Given the description of an element on the screen output the (x, y) to click on. 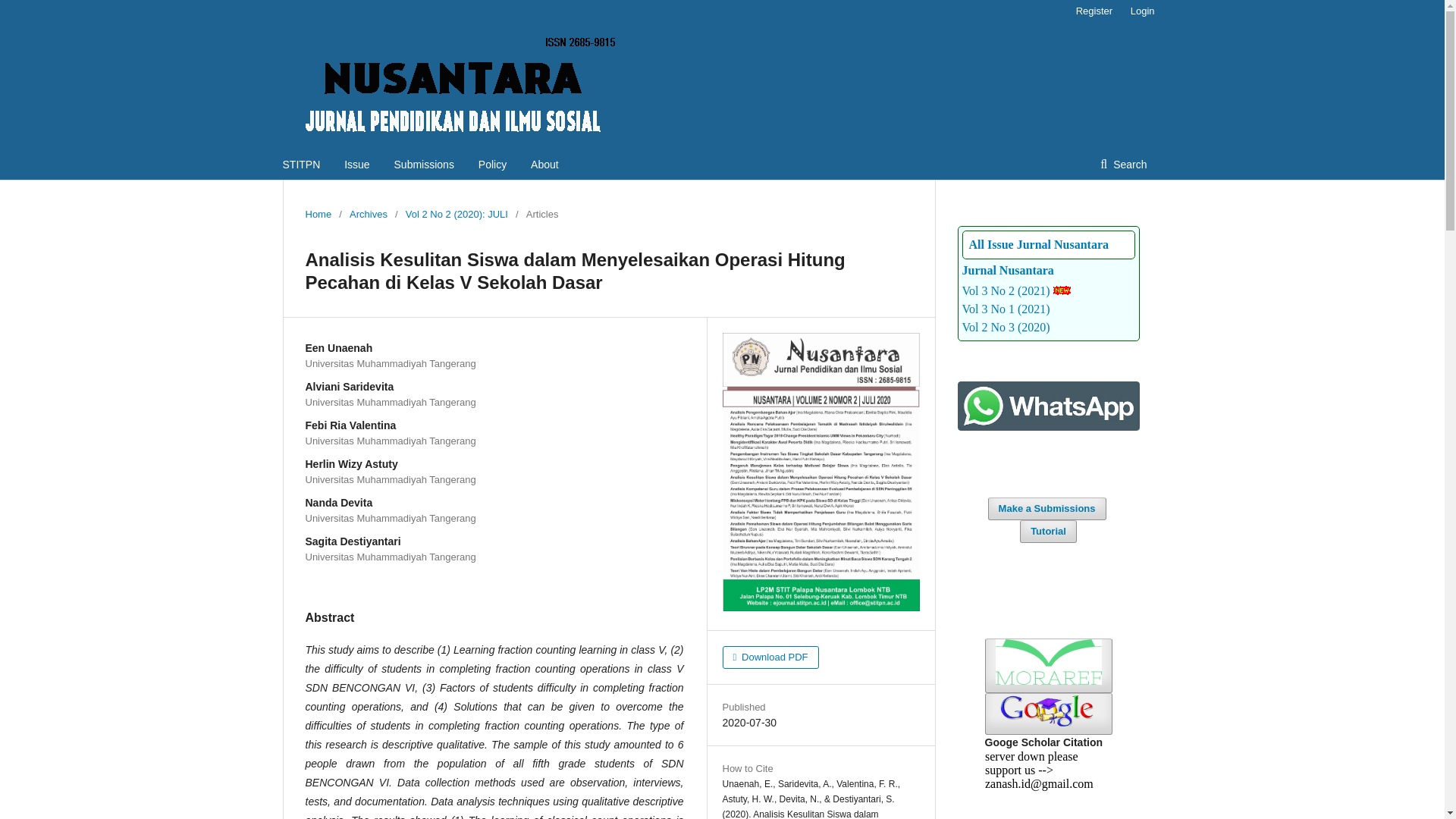
Search (1122, 164)
Login (1138, 11)
Policy (492, 164)
Archives (368, 214)
All Issue Jurnal Nusantara (1038, 244)
Google Scholar (1048, 712)
Publication of Jurnal Nusantara (1006, 269)
Tutorial (1048, 531)
Submissions (424, 164)
Moraref (1048, 665)
Download PDF (770, 657)
Register (1093, 11)
STITPN (301, 164)
About (545, 164)
Submission (1047, 508)
